Given the description of an element on the screen output the (x, y) to click on. 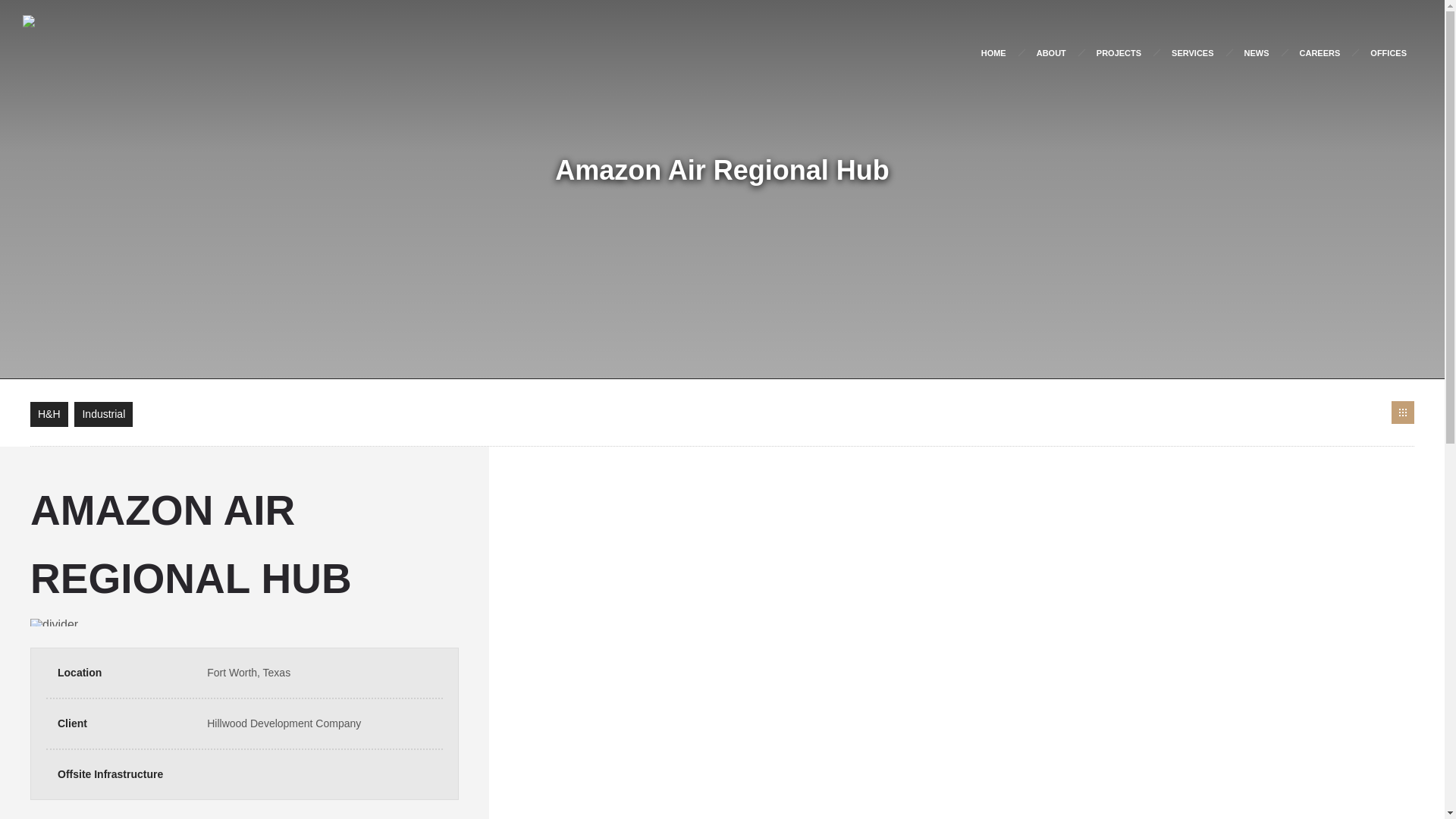
PROJECTS (1118, 52)
Industrial (103, 414)
All Projects (1402, 412)
SERVICES (1192, 52)
CAREERS (1319, 52)
